Given the description of an element on the screen output the (x, y) to click on. 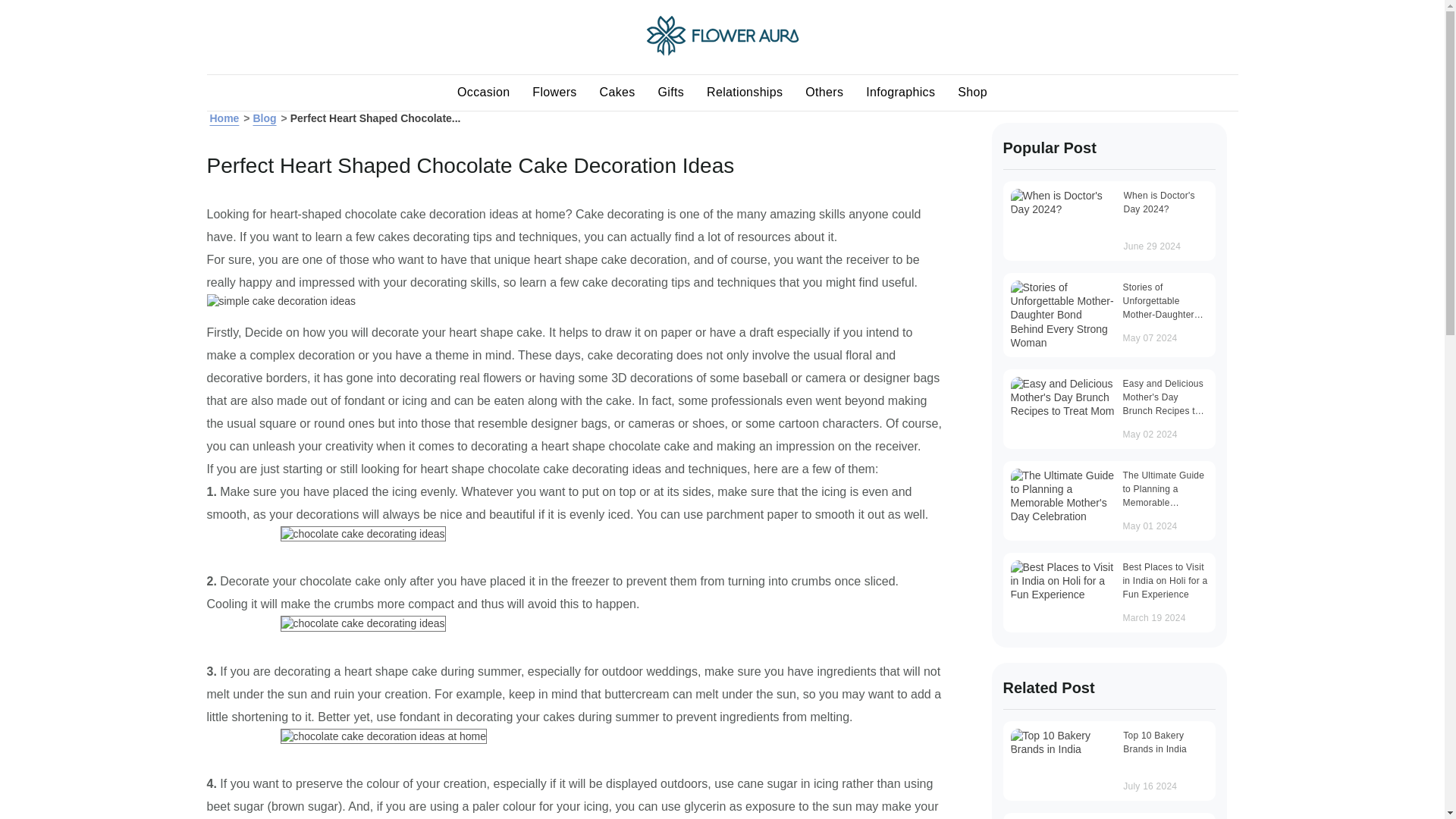
chocolate cake decoration ideas at home (384, 735)
Blog (264, 118)
Top 10 Bakery Brands in India (1062, 741)
chocolate cake decorating ideas (363, 533)
Cakes (617, 92)
Flowers (554, 92)
Home (722, 51)
Infographics (900, 92)
Home (224, 118)
Blog (264, 118)
chocolate cake decorating ideas (363, 622)
Relationships (744, 92)
Shop (972, 92)
